Given the description of an element on the screen output the (x, y) to click on. 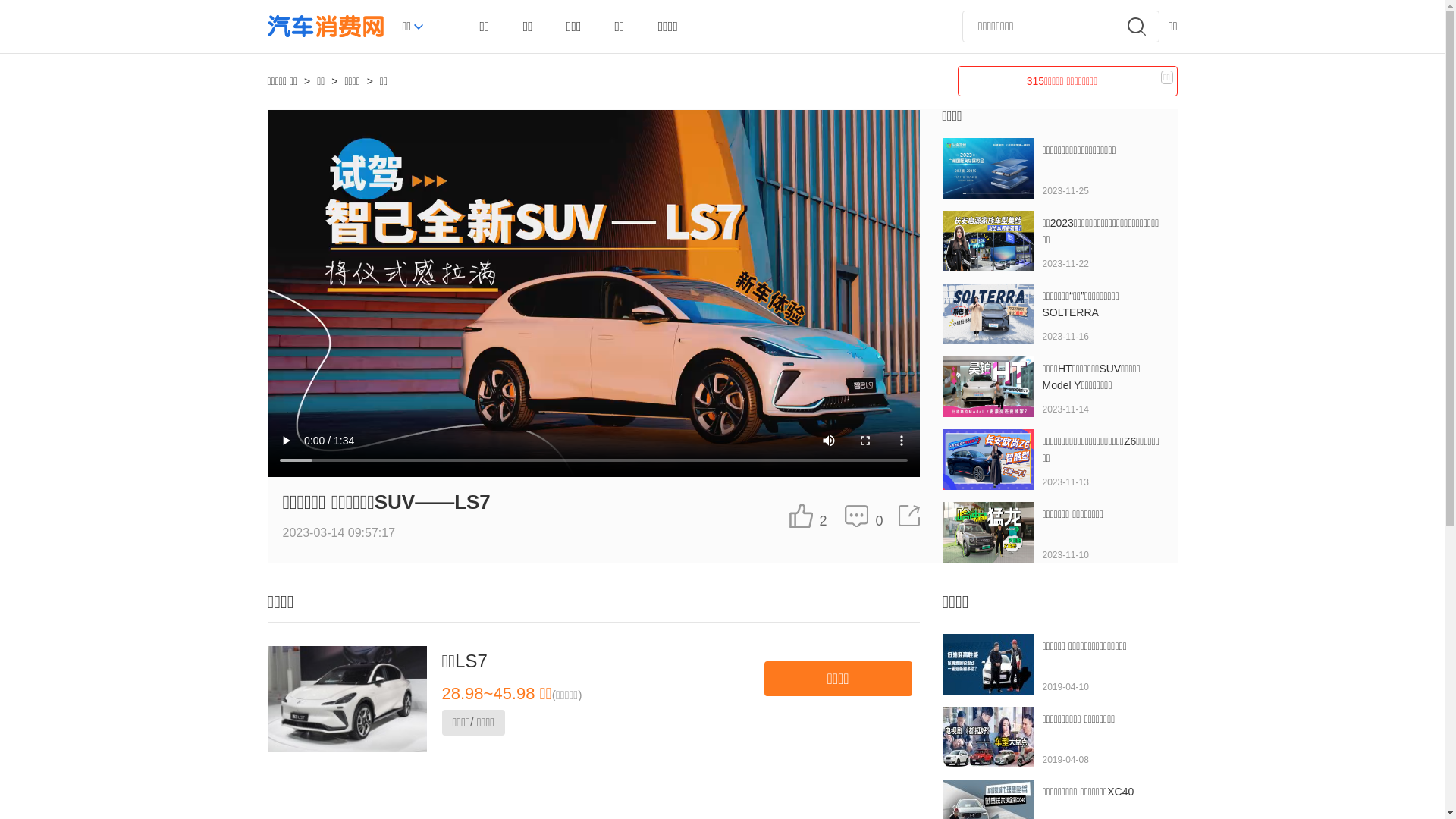
2 Element type: text (808, 515)
